Given the description of an element on the screen output the (x, y) to click on. 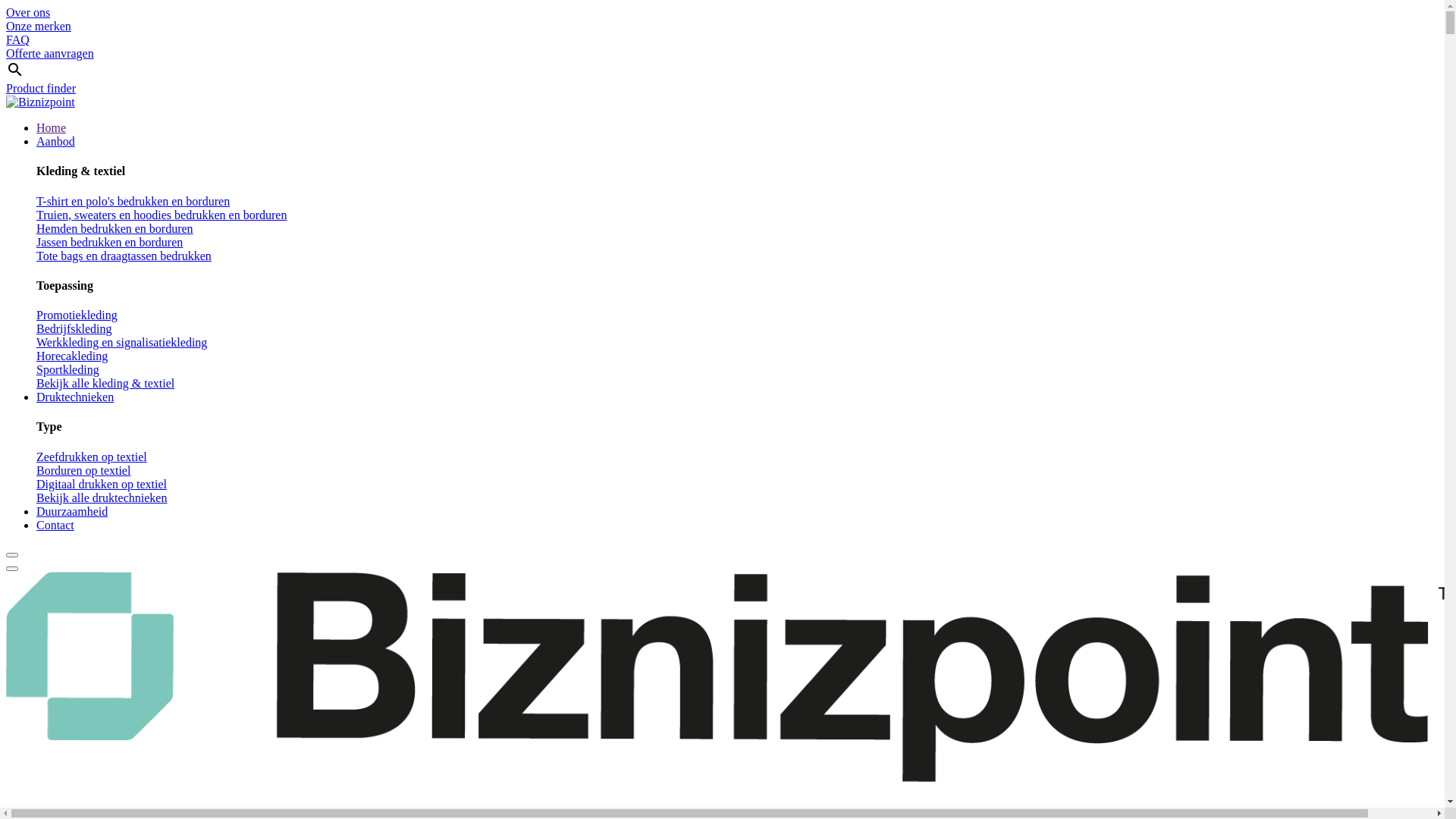
Contact Element type: text (55, 524)
Product finder Element type: text (722, 77)
Over ons Element type: text (28, 12)
Duurzaamheid Element type: text (71, 511)
Werkkleding en signalisatiekleding Element type: text (121, 341)
Sportkleding Element type: text (67, 369)
T-shirt en polo's bedrukken en borduren Element type: text (132, 200)
Druktechnieken Element type: text (74, 396)
Onze merken Element type: text (38, 25)
Borduren op textiel Element type: text (83, 470)
Horecakleding Element type: text (71, 355)
FAQ Element type: text (17, 39)
Zeefdrukken op textiel Element type: text (91, 456)
Home Element type: text (50, 127)
Offerte aanvragen Element type: text (50, 53)
Promotiekleding Element type: text (76, 314)
Bekijk alle kleding & textiel Element type: text (105, 382)
Hemden bedrukken en borduren Element type: text (114, 228)
Tote bags en draagtassen bedrukken Element type: text (123, 255)
Jassen bedrukken en borduren Element type: text (109, 241)
Bedrijfskleding Element type: text (74, 328)
Aanbod Element type: text (55, 140)
Bekijk alle druktechnieken Element type: text (101, 497)
Digitaal drukken op textiel Element type: text (101, 483)
Truien, sweaters en hoodies bedrukken en borduren Element type: text (161, 214)
